Given the description of an element on the screen output the (x, y) to click on. 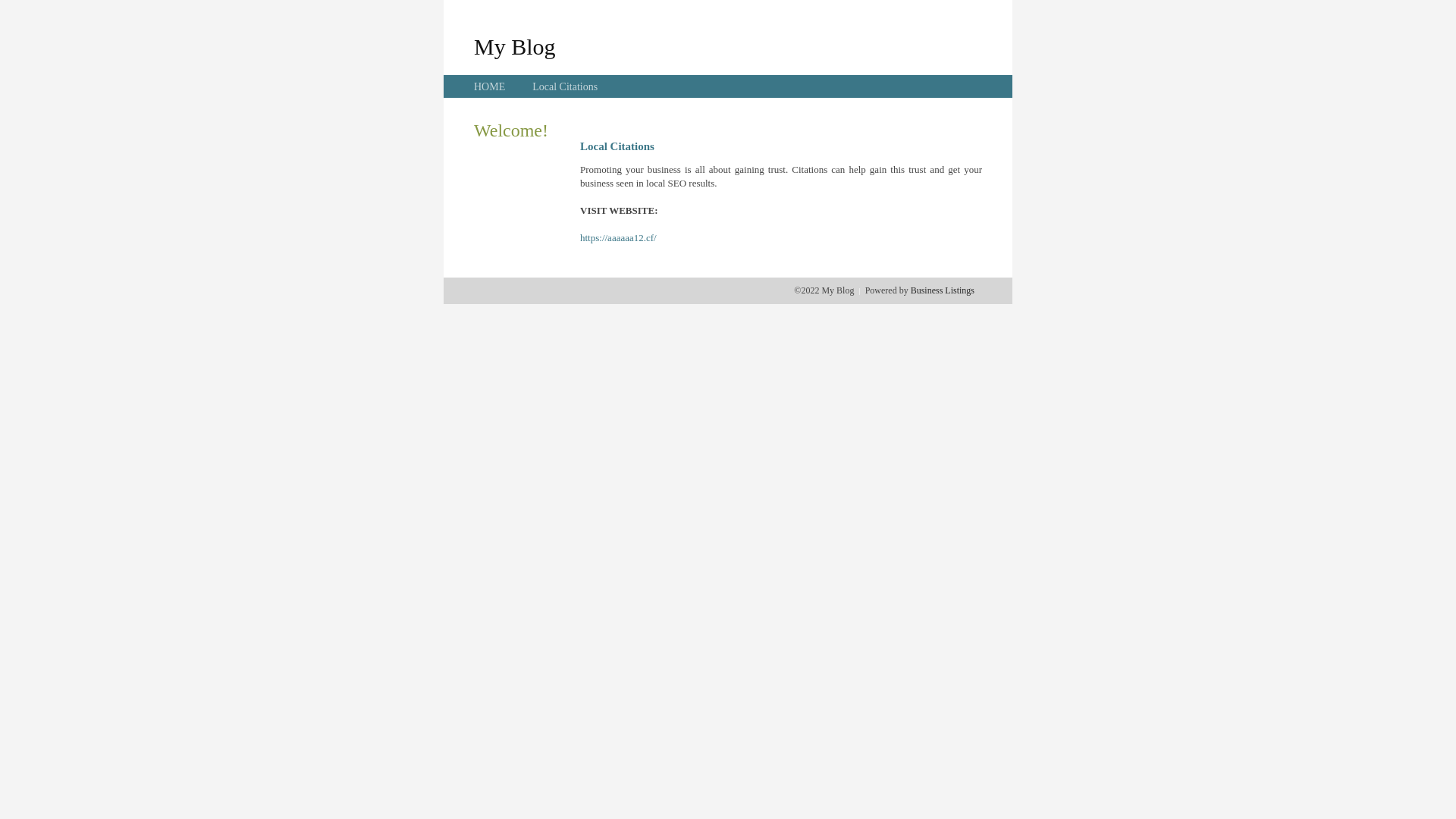
https://aaaaaa12.cf/ Element type: text (618, 237)
Business Listings Element type: text (942, 290)
Local Citations Element type: text (564, 86)
HOME Element type: text (489, 86)
My Blog Element type: text (514, 46)
